Given the description of an element on the screen output the (x, y) to click on. 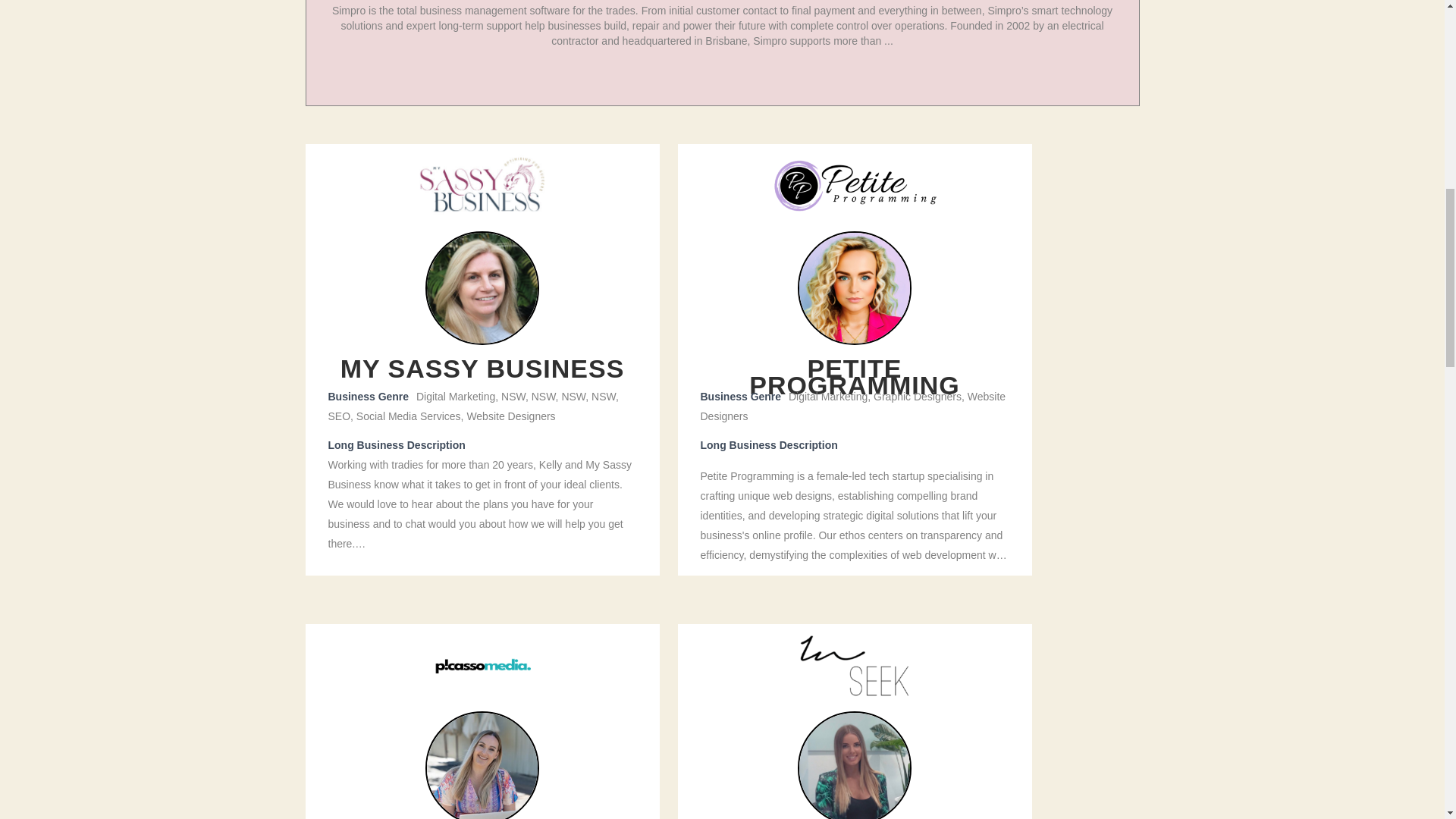
My Sassy Business (482, 185)
Picasso Media (482, 665)
Inseek Identity (855, 665)
Petite Programming (853, 185)
